Given the description of an element on the screen output the (x, y) to click on. 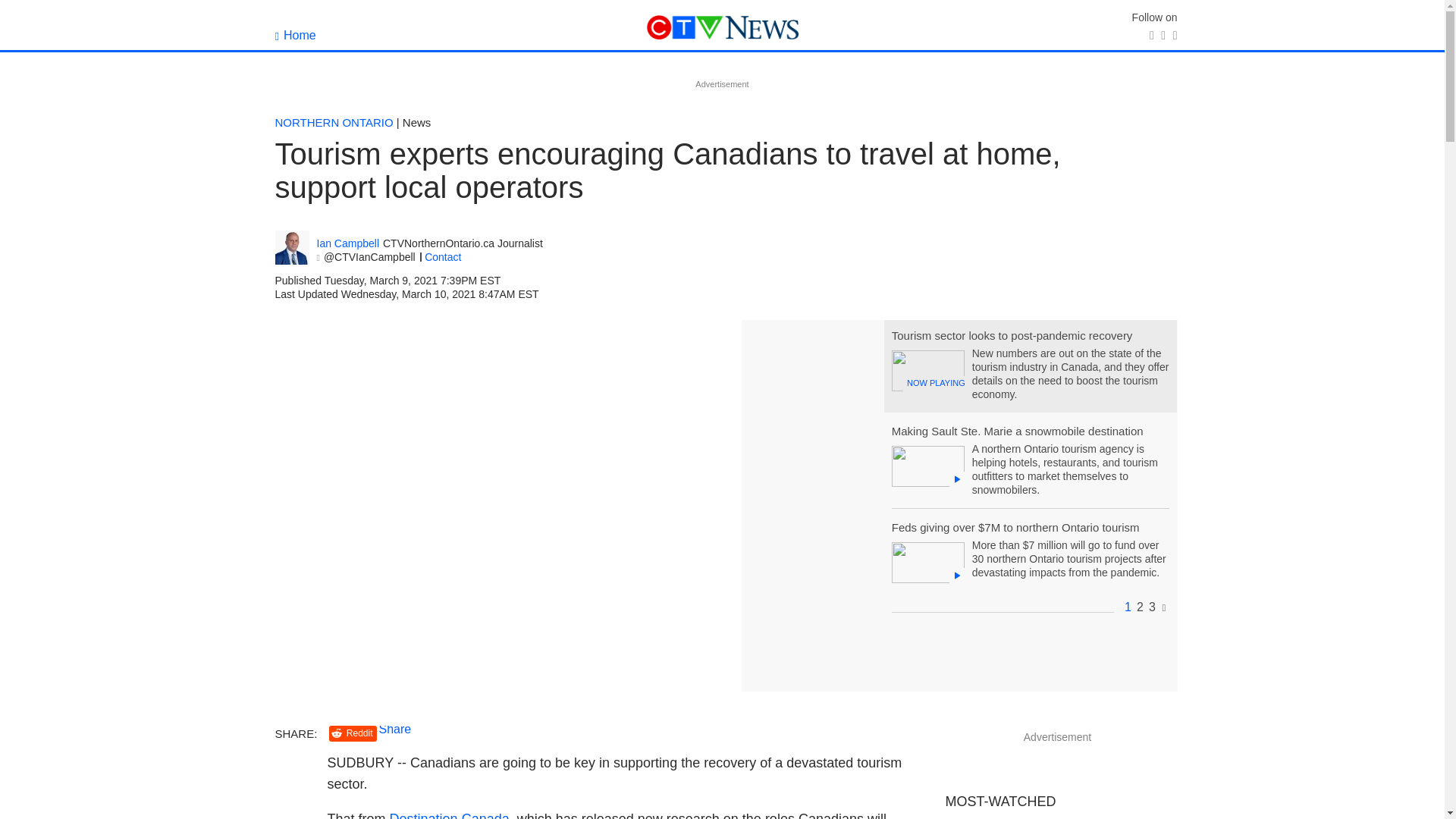
Making Sault Ste. Marie a snowmobile destination (1016, 431)
1 (1127, 606)
Destination Canada (449, 815)
NORTHERN ONTARIO (334, 122)
Ian Campbell (348, 243)
2 (1139, 606)
  NOW PLAYING (927, 370)
Home (295, 34)
Share (395, 728)
Tourism sector looks to post-pandemic recovery (1011, 335)
3 (1152, 606)
Reddit (353, 733)
